Given the description of an element on the screen output the (x, y) to click on. 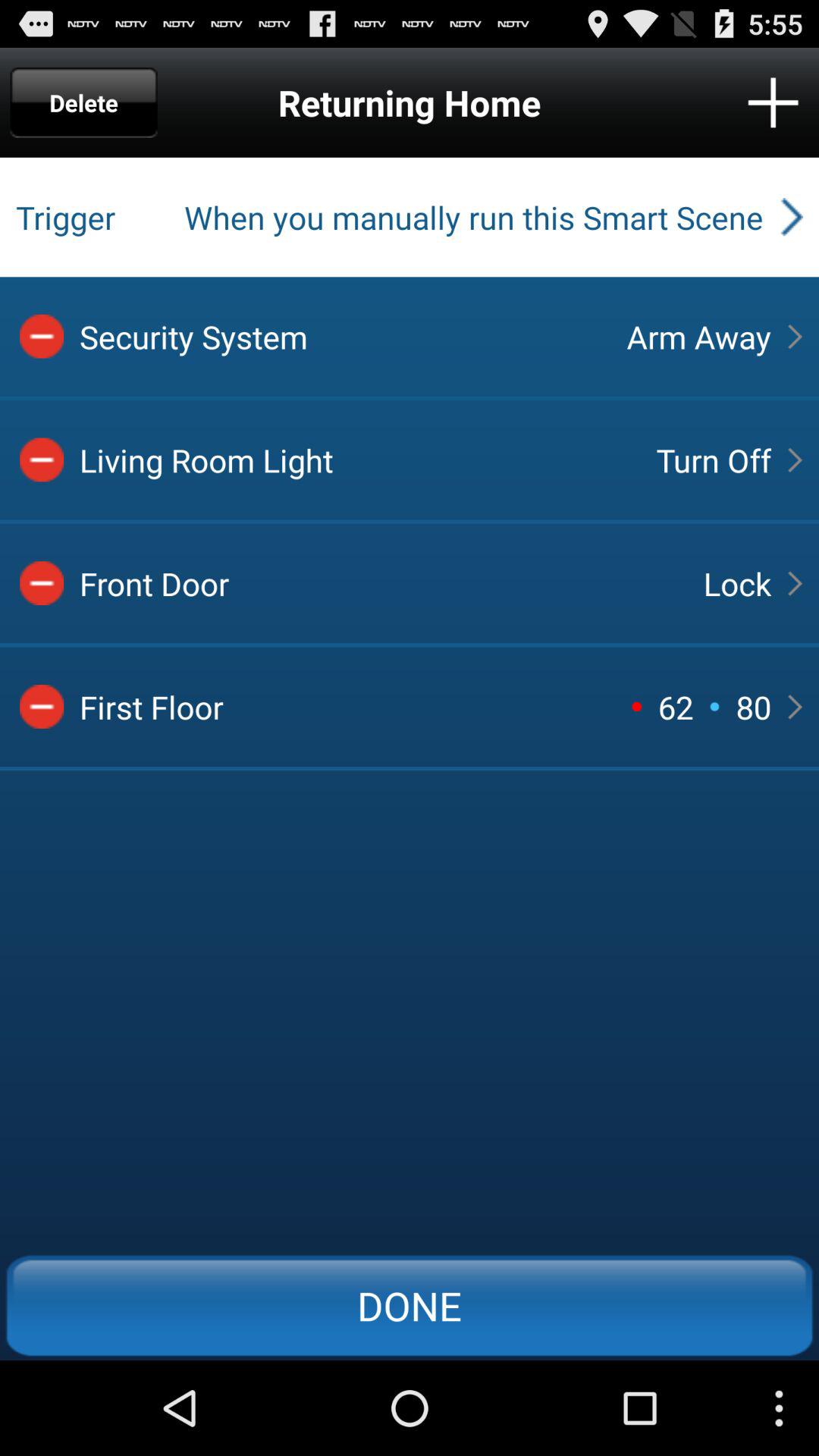
click the icon below front door app (675, 706)
